Given the description of an element on the screen output the (x, y) to click on. 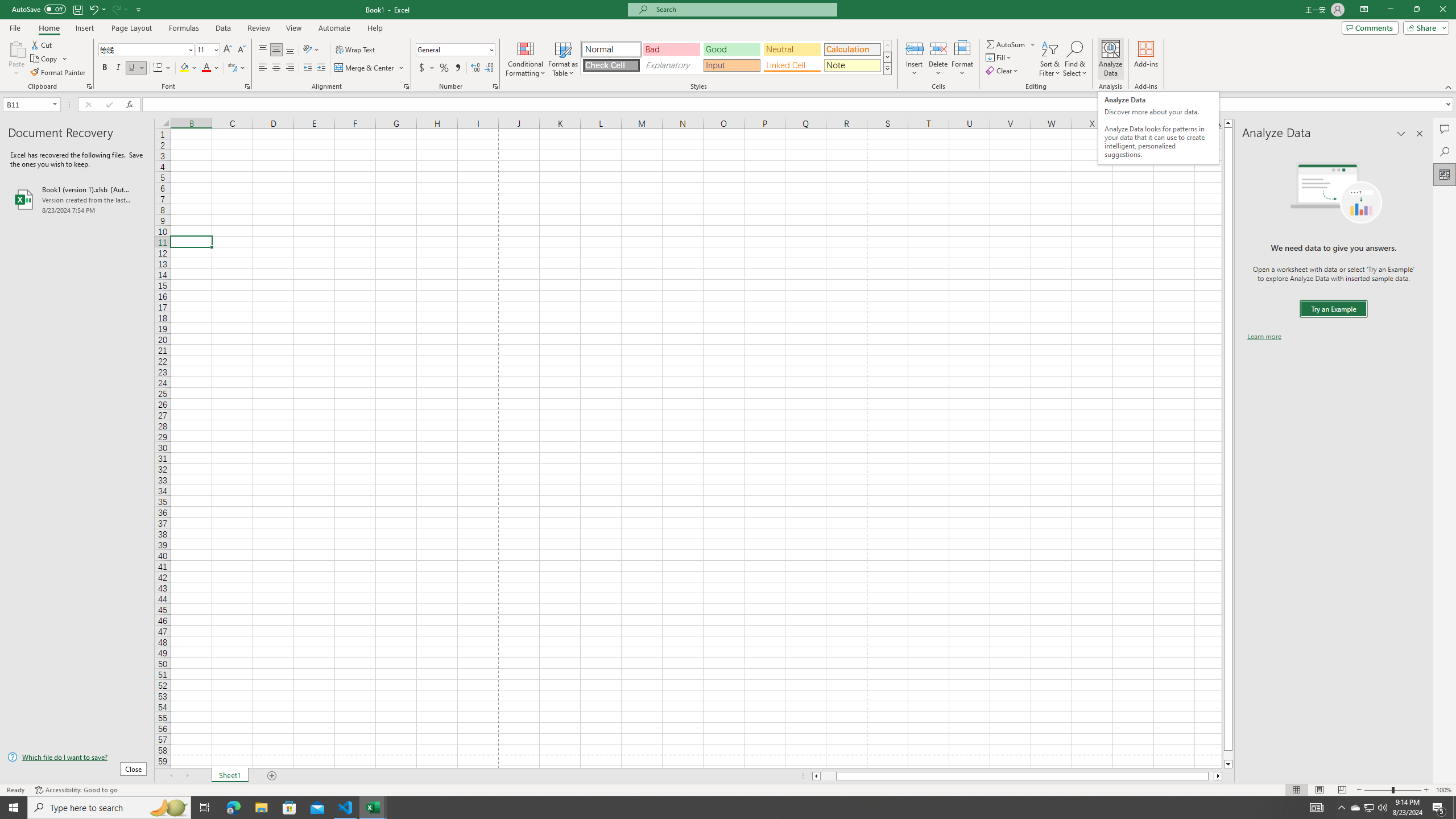
Review (258, 28)
Input (731, 65)
Increase Font Size (227, 49)
Font (147, 49)
Save (77, 9)
Comments (1369, 27)
Close (1442, 9)
Format Cell Number (494, 85)
Comments (1444, 128)
Explanatory Text (671, 65)
Row up (887, 45)
Conditional Formatting (525, 58)
Book1 (version 1).xlsb  [AutoRecovered] (77, 199)
